Given the description of an element on the screen output the (x, y) to click on. 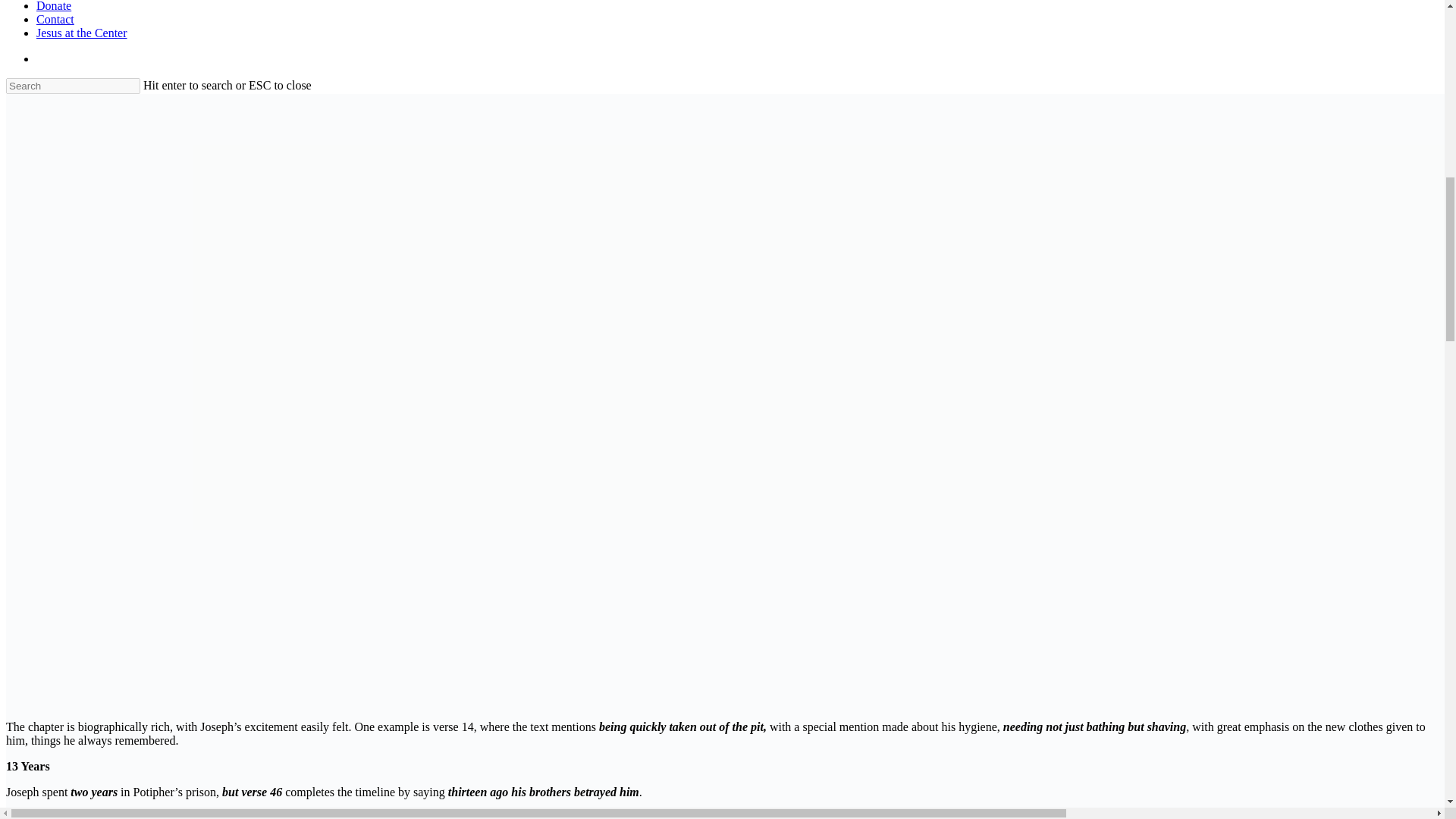
Contact (55, 19)
Donate (53, 6)
Jesus at the Center (82, 32)
